Given the description of an element on the screen output the (x, y) to click on. 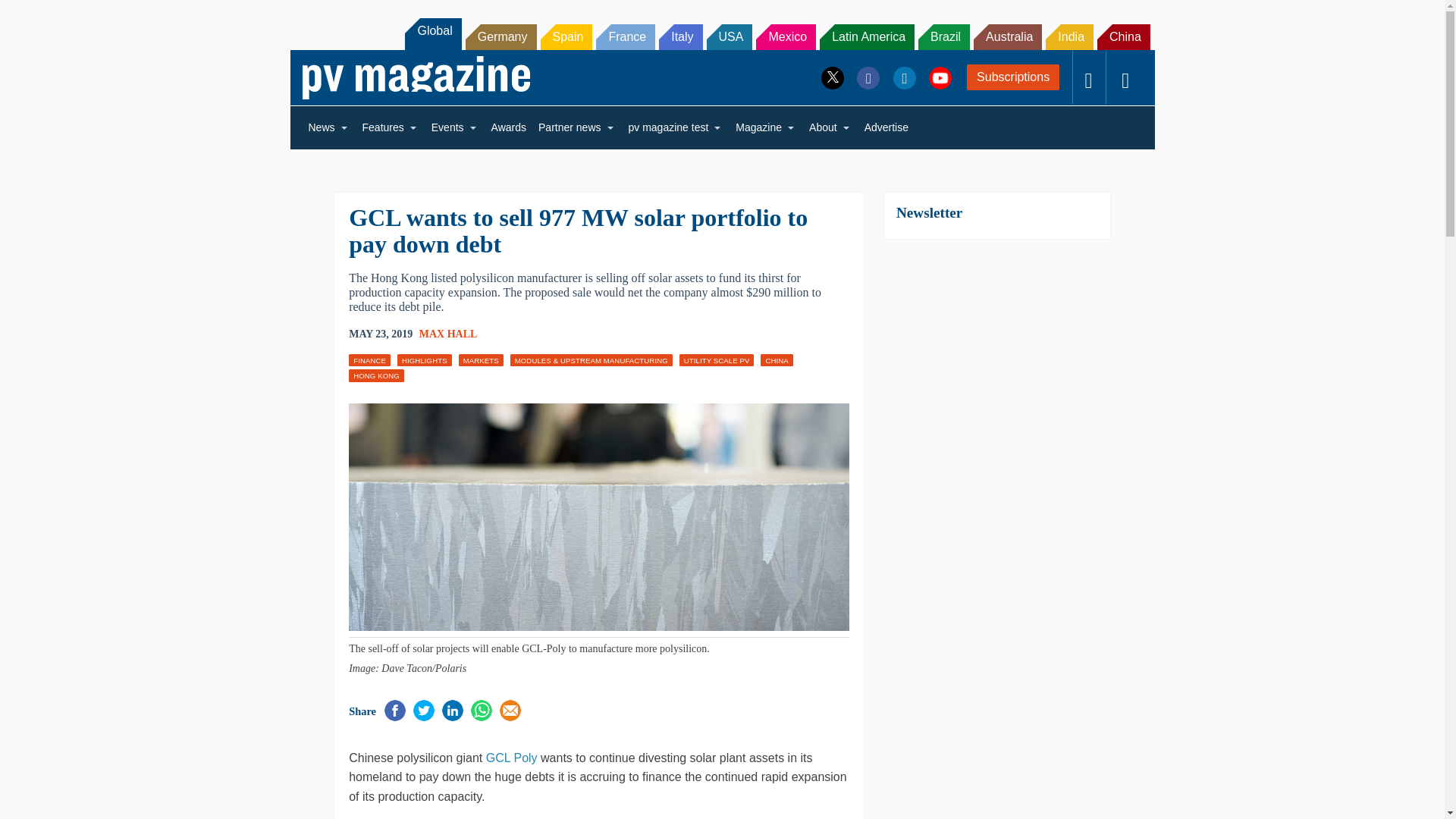
Search (32, 15)
pv magazine - Photovoltaics Markets and Technology (415, 77)
Italy (680, 36)
France (625, 36)
pv magazine - Photovoltaics Markets and Technology (415, 77)
Germany (501, 36)
China (1123, 36)
Posts by Max Hall (448, 333)
Thursday, May 23, 2019, 10:25 am (380, 334)
Mexico (785, 36)
Brazil (943, 36)
India (1069, 36)
Latin America (866, 36)
Subscriptions (1012, 77)
